Given the description of an element on the screen output the (x, y) to click on. 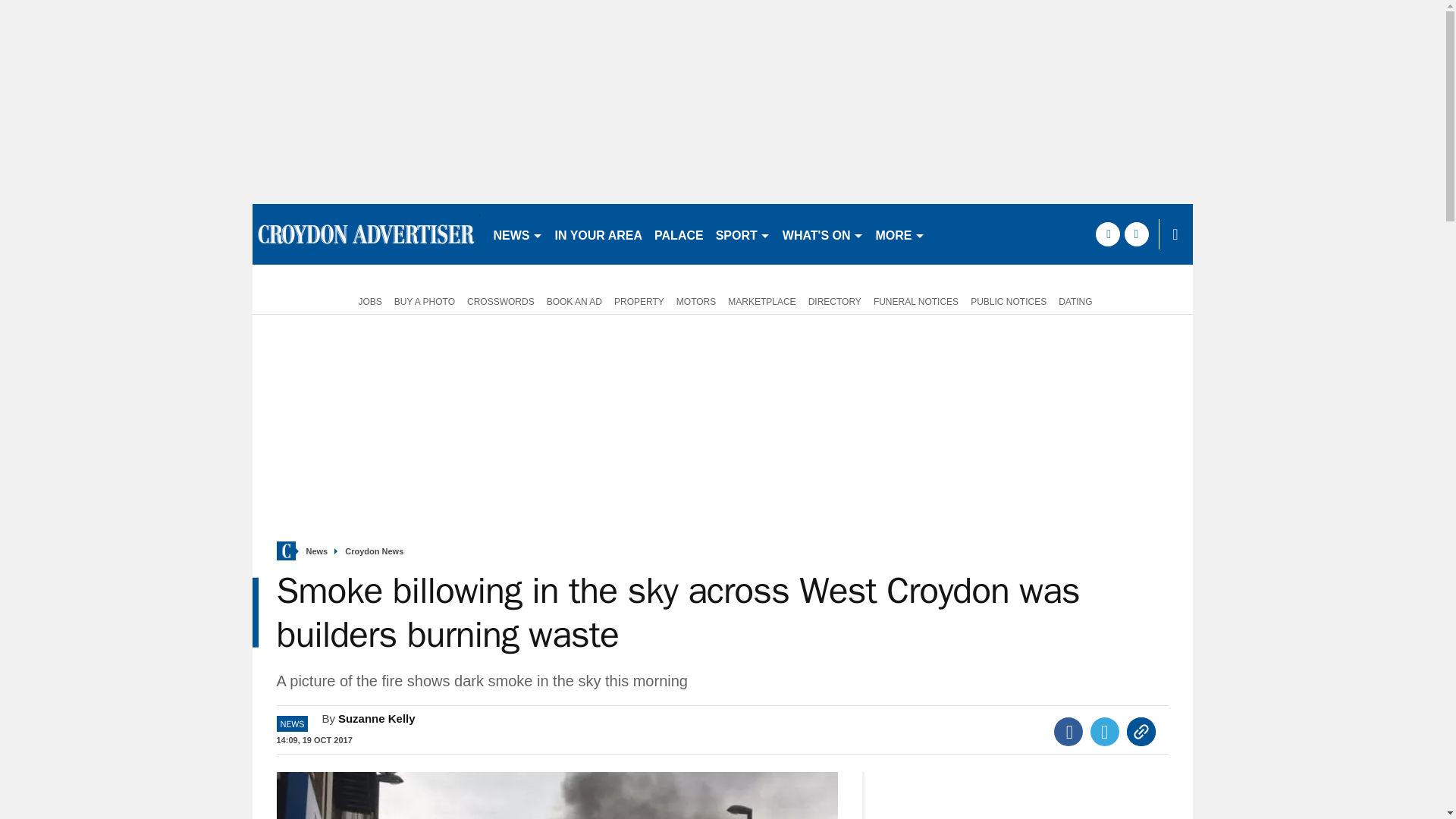
IN YOUR AREA (598, 233)
SPORT (743, 233)
Facebook (1068, 731)
NEWS (517, 233)
PALACE (678, 233)
CROSSWORDS (500, 300)
WHAT'S ON (822, 233)
facebook (1106, 233)
JOBS (366, 300)
twitter (1136, 233)
